Given the description of an element on the screen output the (x, y) to click on. 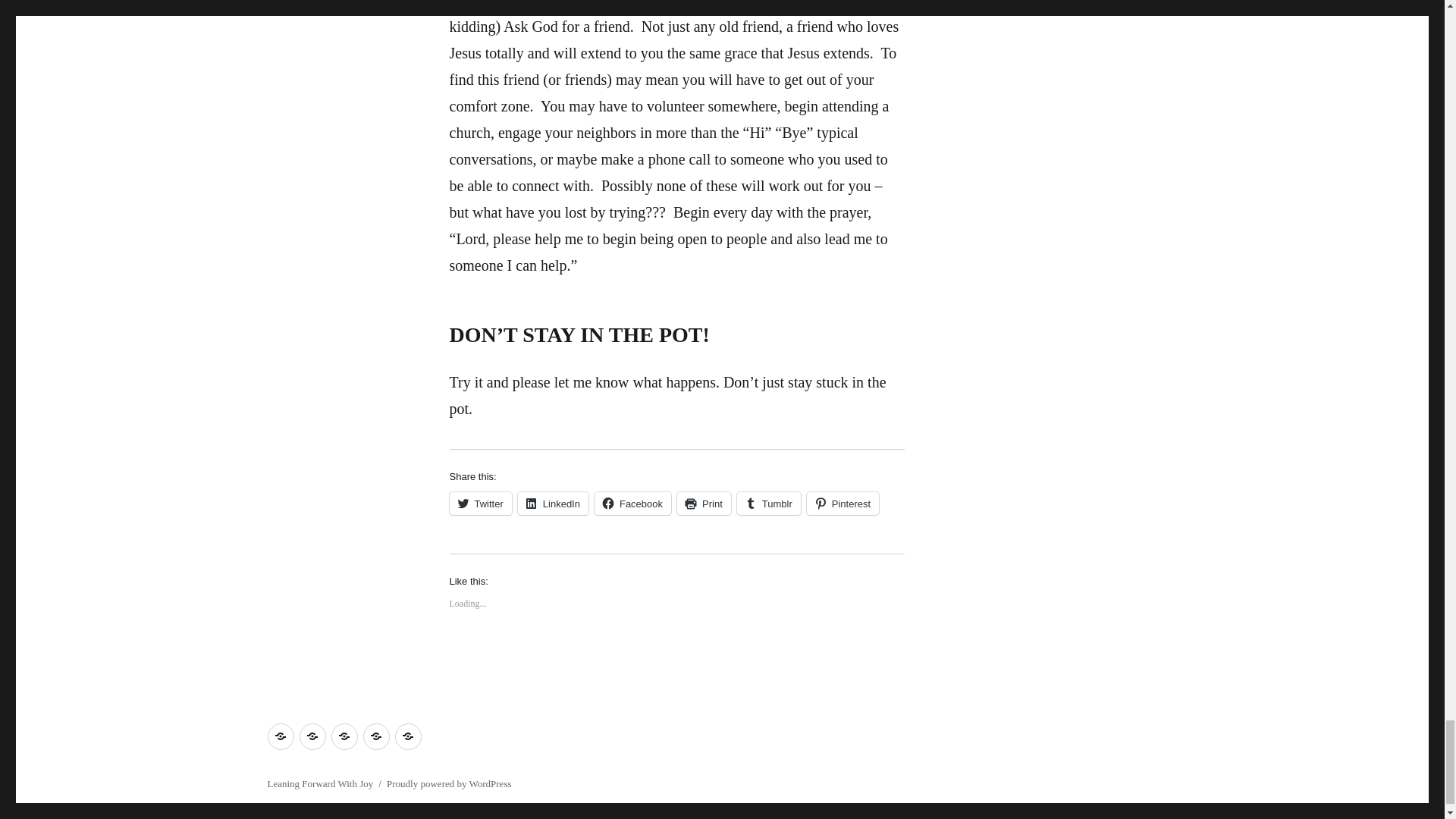
Click to share on Facebook (632, 503)
Click to share on LinkedIn (553, 503)
Click to share on Twitter (479, 503)
